Given the description of an element on the screen output the (x, y) to click on. 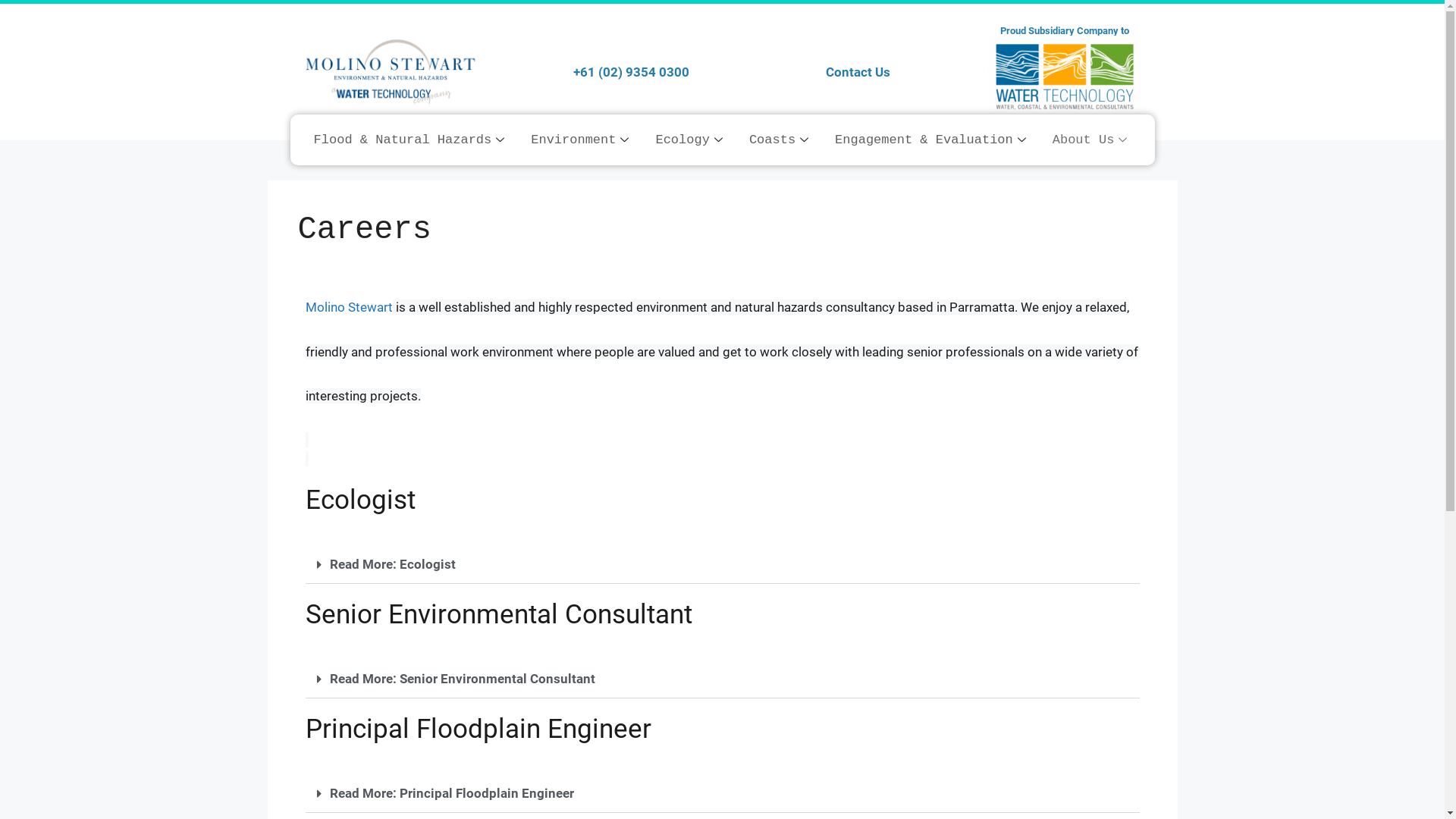
Read More: Ecologist Element type: text (392, 563)
Flood & Natural Hazards Element type: text (411, 139)
Contact Us Element type: text (857, 70)
Read More: Principal Floodplain Engineer Element type: text (451, 792)
Read More: Senior Environmental Consultant Element type: text (461, 678)
Ecology Element type: text (690, 139)
Environment Element type: text (581, 139)
+61 (02) 9354 0300 Element type: text (631, 70)
Engagement & Evaluation Element type: text (932, 139)
About Us Element type: text (1091, 139)
Coasts Element type: text (780, 139)
Molino Stewart Element type: text (348, 306)
